Given the description of an element on the screen output the (x, y) to click on. 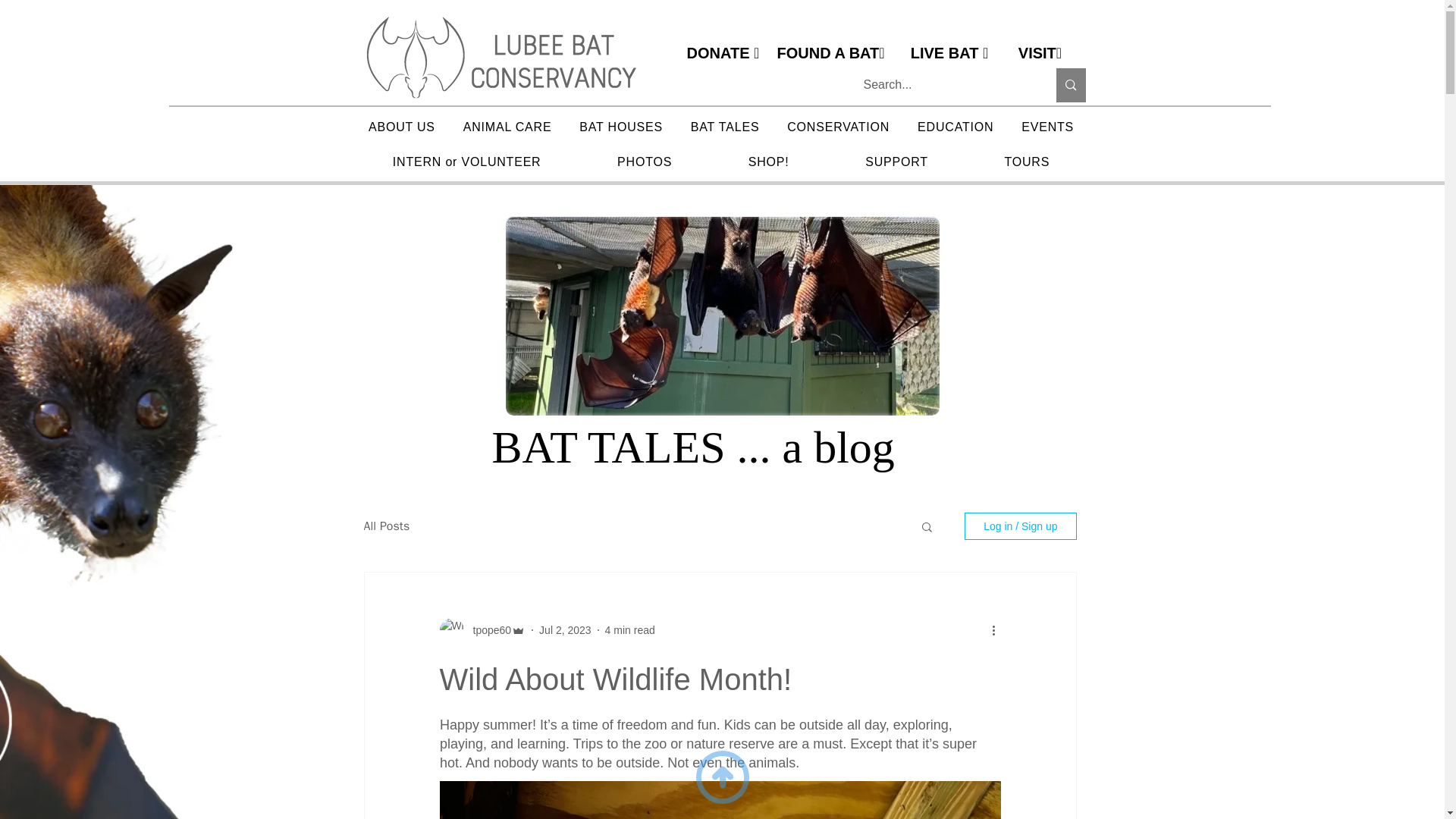
ABOUT US (402, 127)
Jul 2, 2023 (564, 629)
tpope60 (488, 629)
BAT TALES (724, 127)
4 min read (630, 629)
EVENTS (1047, 127)
